Given the description of an element on the screen output the (x, y) to click on. 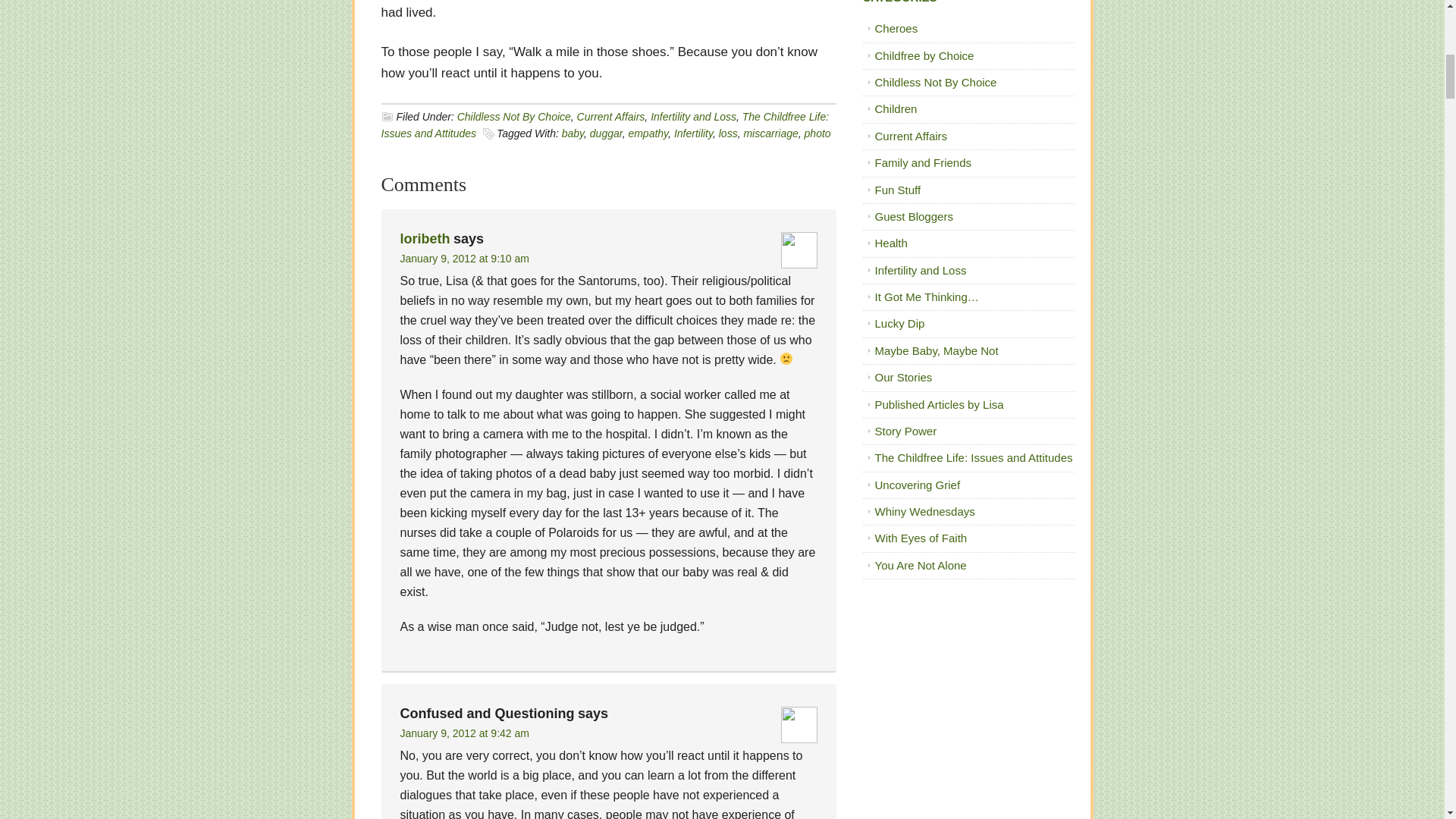
January 9, 2012 at 9:10 am (464, 258)
empathy (647, 133)
baby (572, 133)
photo (818, 133)
Childless Not By Choice (513, 116)
loribeth (424, 238)
loss (728, 133)
Current Affairs (610, 116)
Infertility and Loss (693, 116)
January 9, 2012 at 9:42 am (464, 733)
